Given the description of an element on the screen output the (x, y) to click on. 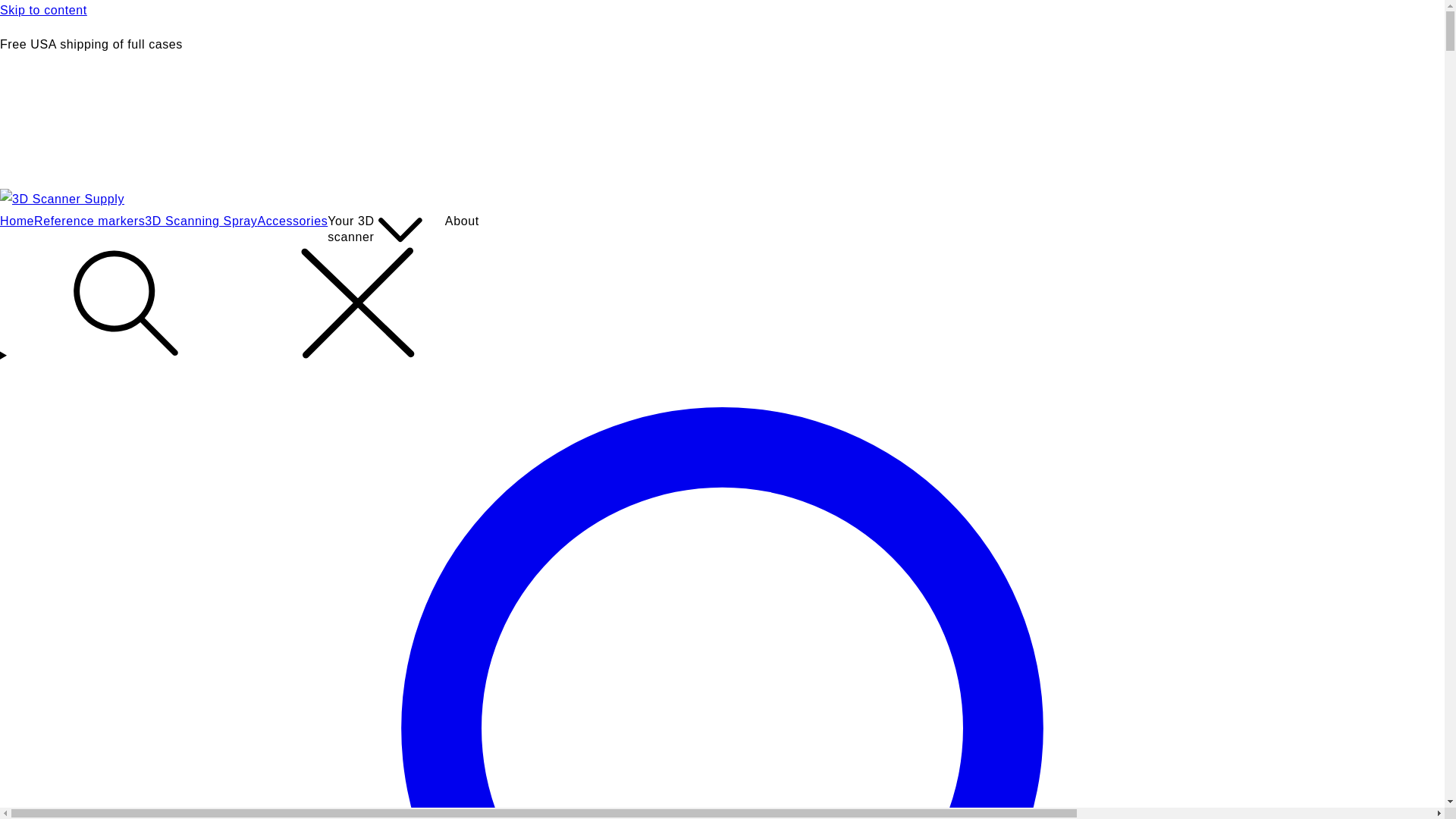
Skip to content Element type: text (722, 10)
Accessories Element type: text (292, 221)
Home Element type: text (17, 221)
3D Scanning Spray Element type: text (200, 221)
Reference markers Element type: text (89, 221)
